Given the description of an element on the screen output the (x, y) to click on. 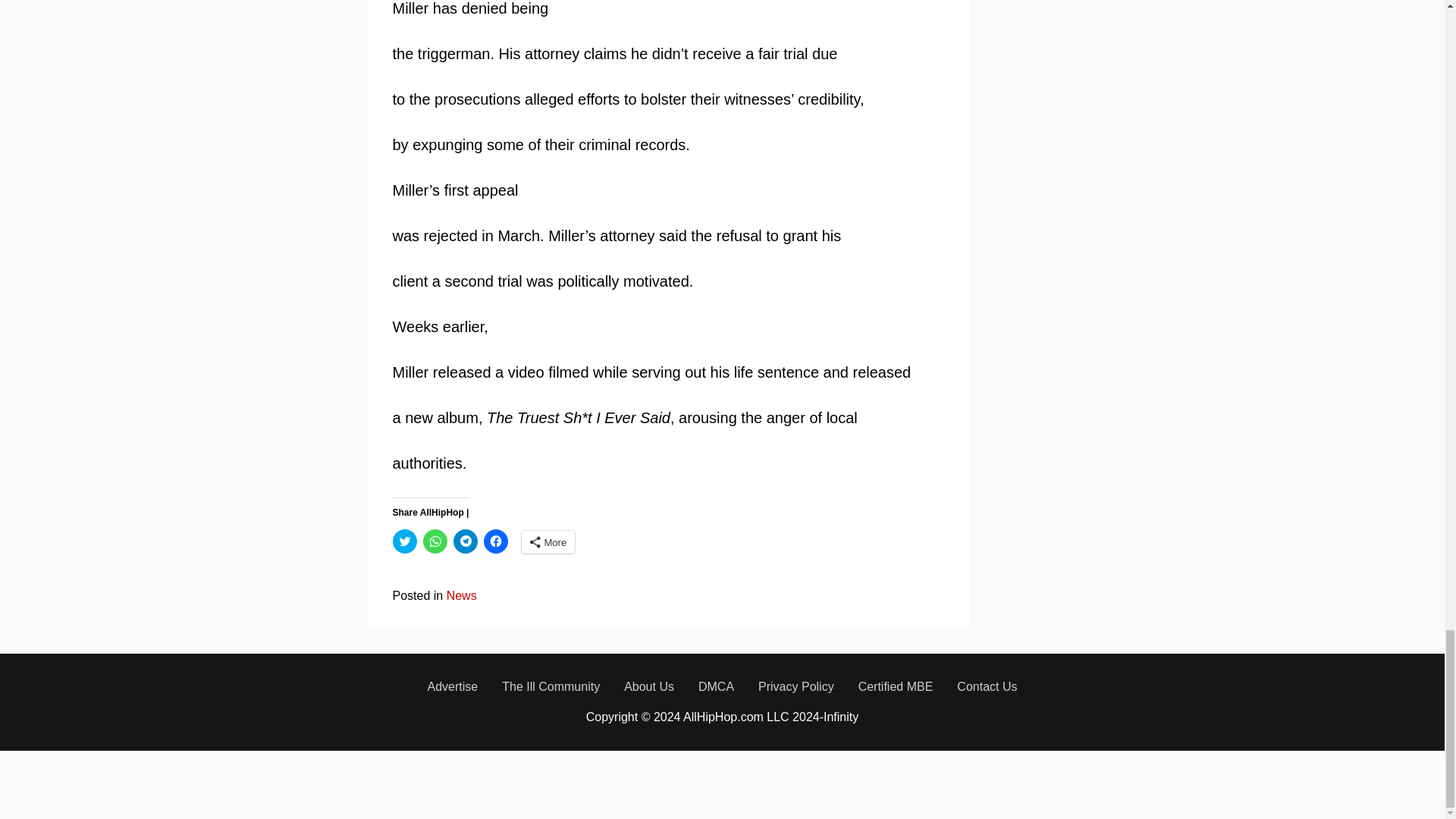
Click to share on Telegram (464, 541)
Click to share on Facebook (495, 541)
Click to share on WhatsApp (434, 541)
Click to share on Twitter (404, 541)
